Given the description of an element on the screen output the (x, y) to click on. 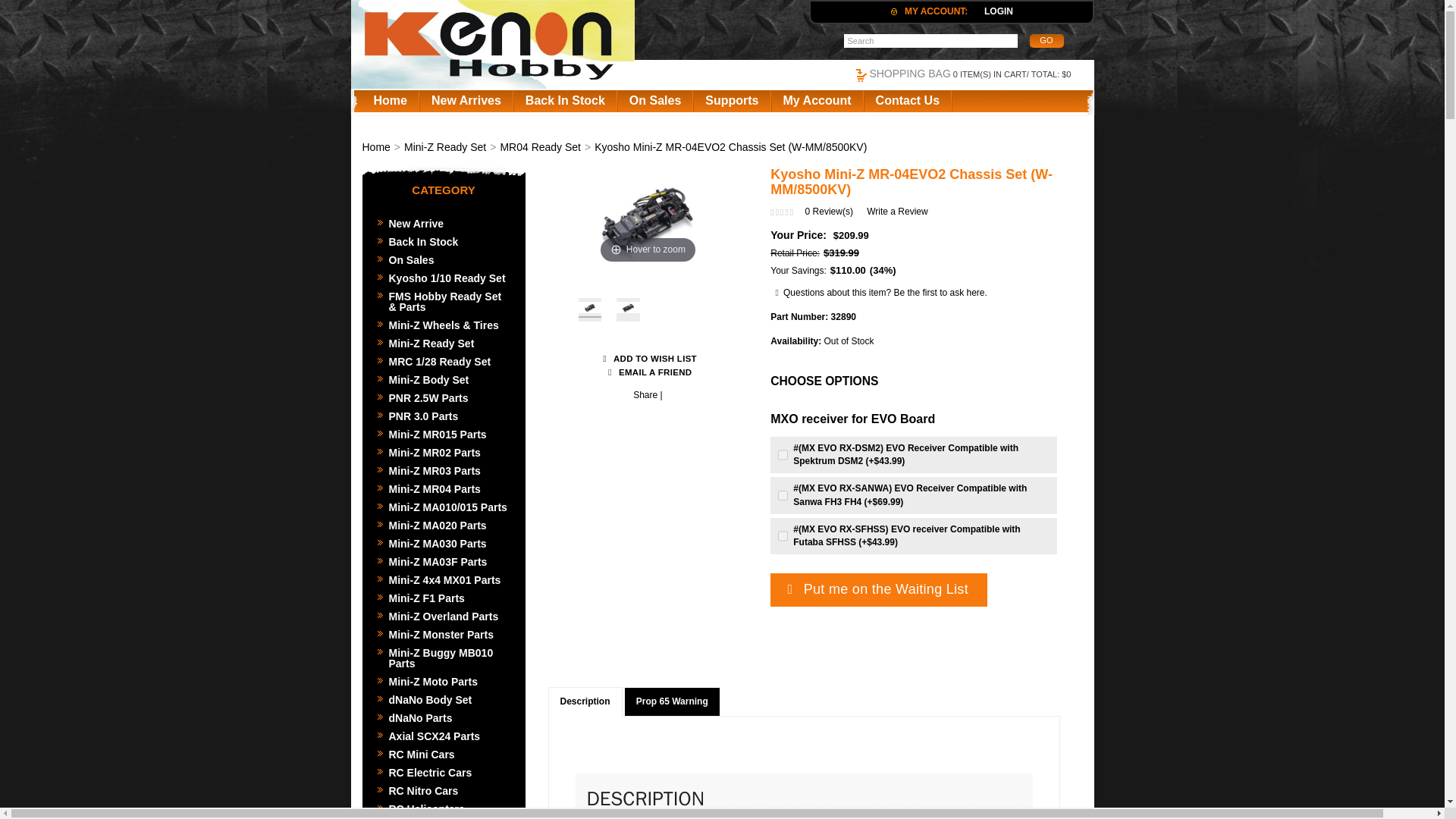
Back In Stock (443, 241)
On Sales (655, 100)
Mini-Z 4x4 MX01 Parts (443, 579)
LOGIN (998, 11)
Mini-Z MA030 Parts (443, 543)
PNR 2.5W Parts (443, 398)
PNR 3.0 Parts (443, 416)
Mini-Z Ready Set (443, 343)
New Arrives (466, 100)
GO (1046, 40)
